Given the description of an element on the screen output the (x, y) to click on. 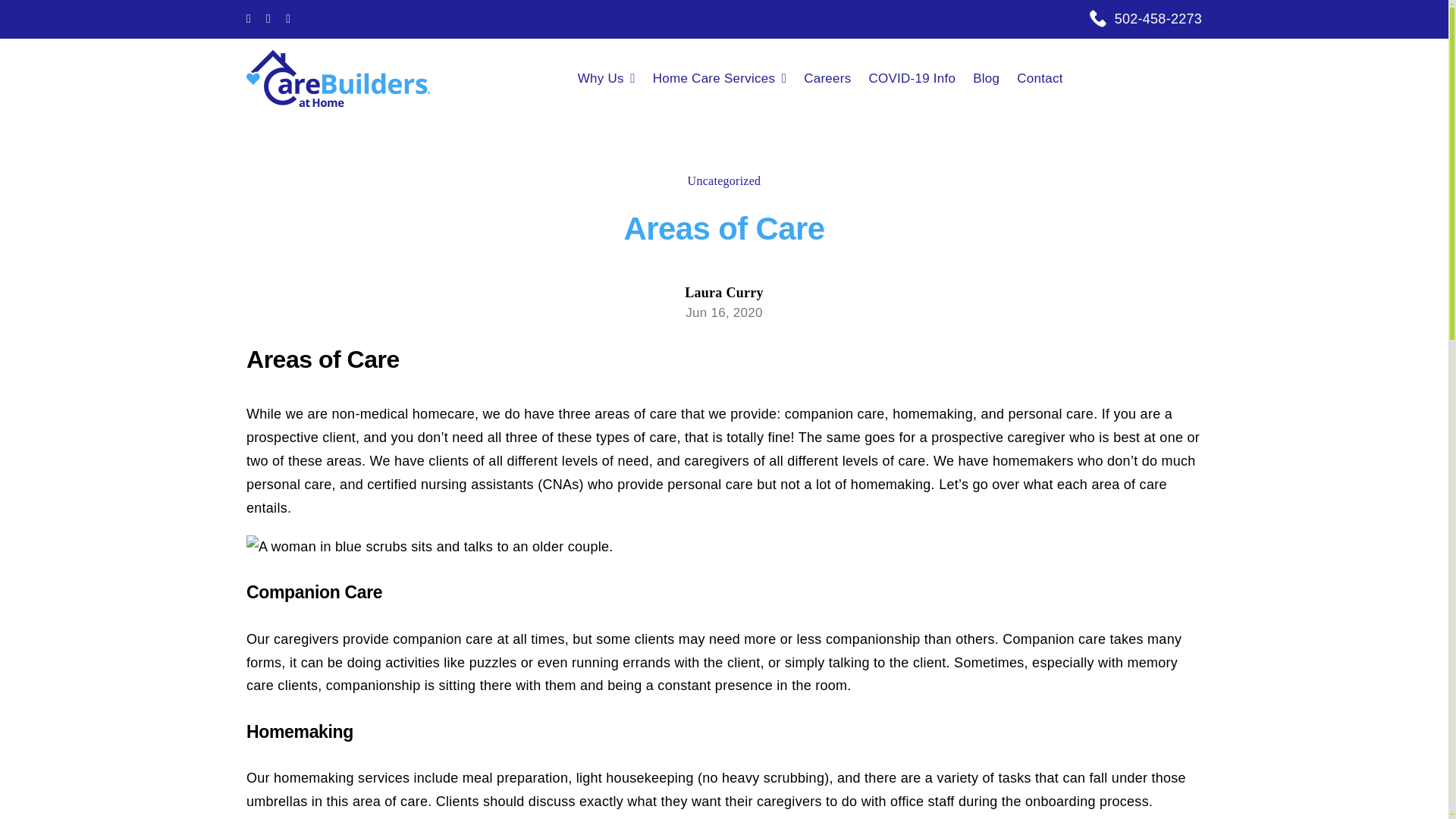
Careers (835, 78)
Blog (994, 78)
Contact (1048, 78)
Uncategorized (724, 180)
Uncategorized (724, 180)
Home Care Services (727, 78)
Why Us (615, 78)
COVID-19 Info (919, 78)
502-458-2273 (1158, 18)
